Given the description of an element on the screen output the (x, y) to click on. 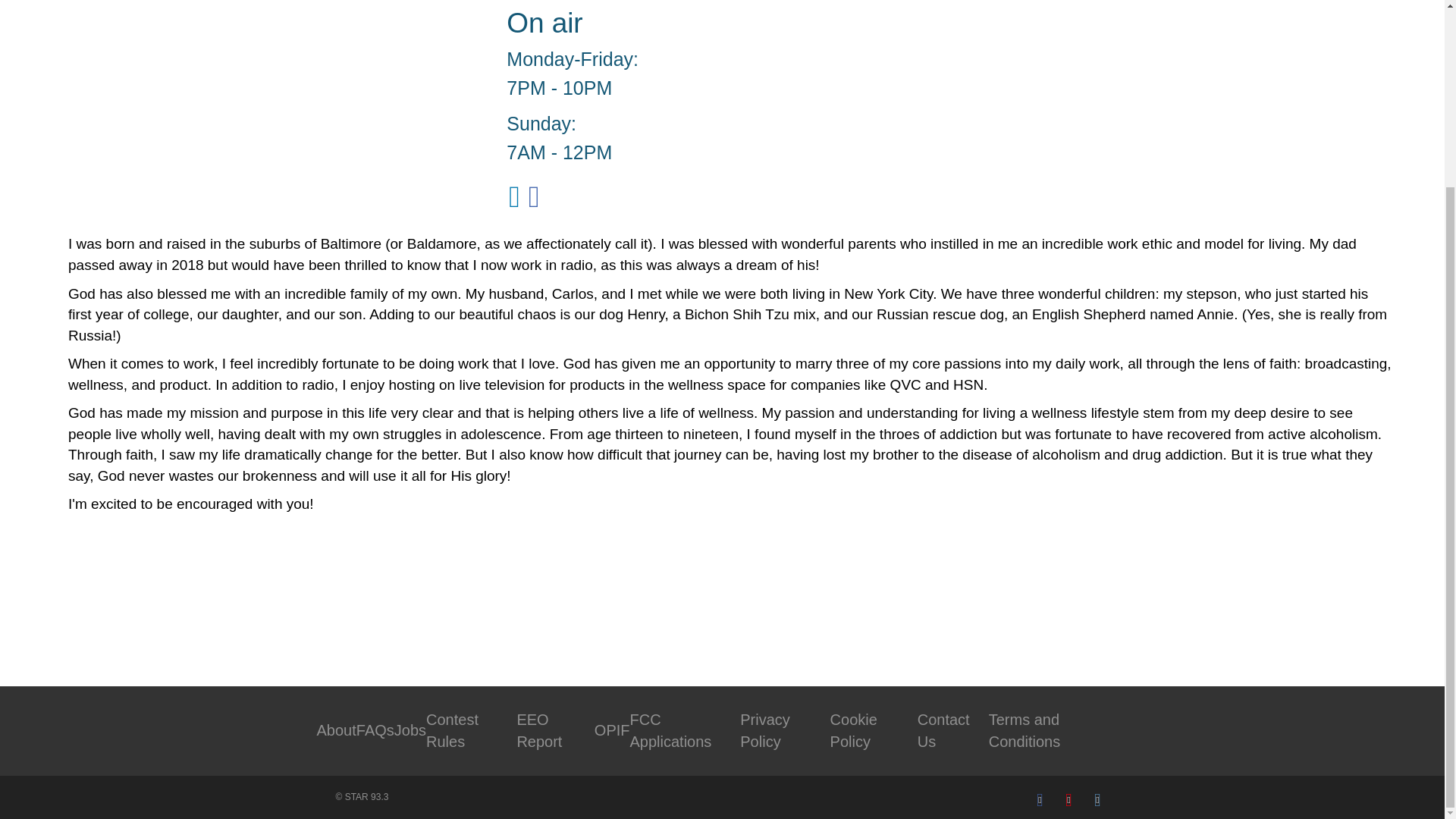
About (336, 729)
Jobs (410, 729)
Contest Rules (452, 730)
FAQs (375, 729)
OPIF (612, 729)
Cookie Policy (853, 730)
FCC Applications (670, 730)
EEO Report (539, 730)
Go back (131, 604)
Privacy Policy (764, 730)
